Given the description of an element on the screen output the (x, y) to click on. 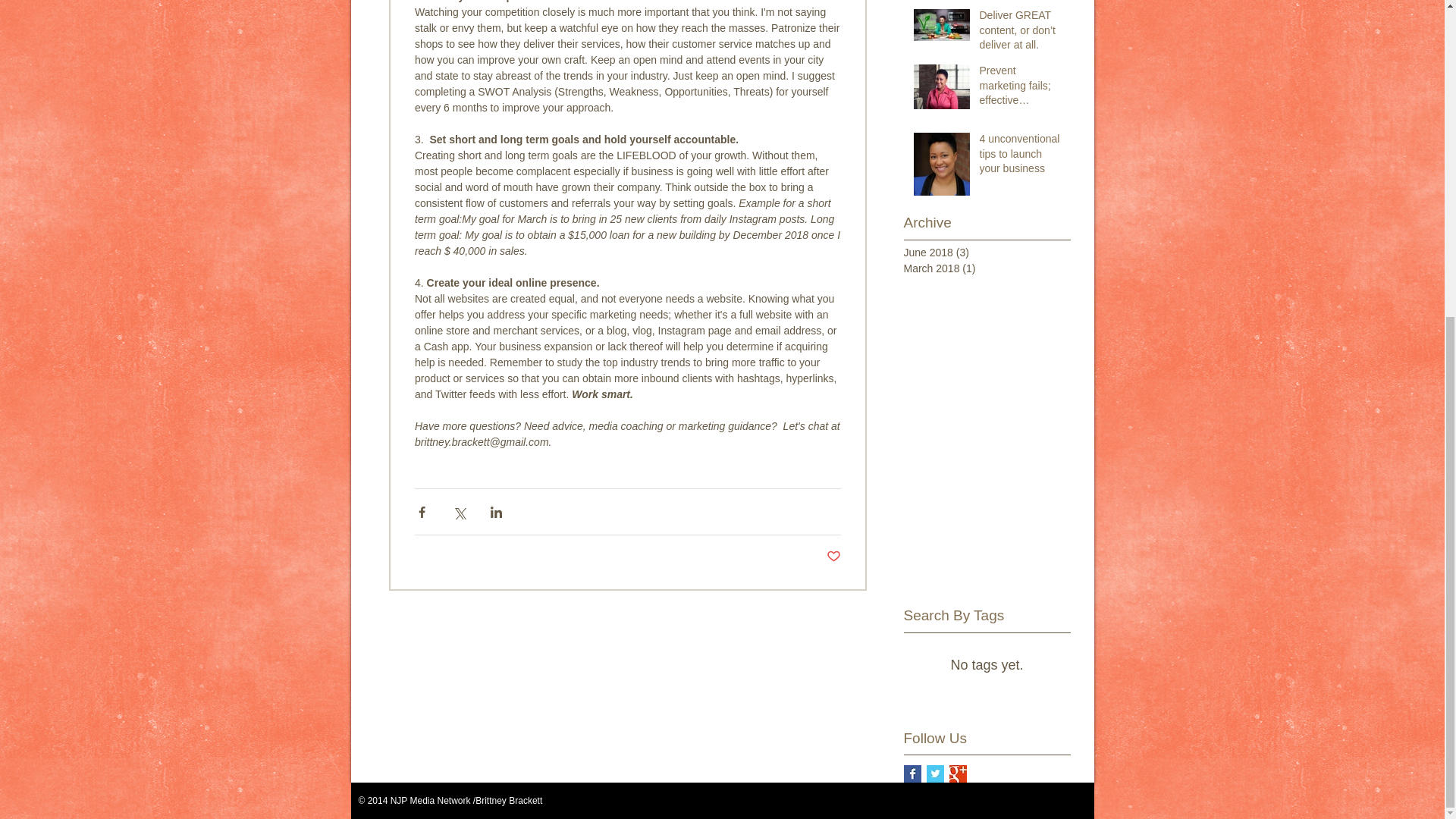
Prevent marketing fails; effective communication is KEY. (1020, 88)
Post not marked as liked (834, 556)
4 unconventional tips to launch your business (1020, 156)
